Given the description of an element on the screen output the (x, y) to click on. 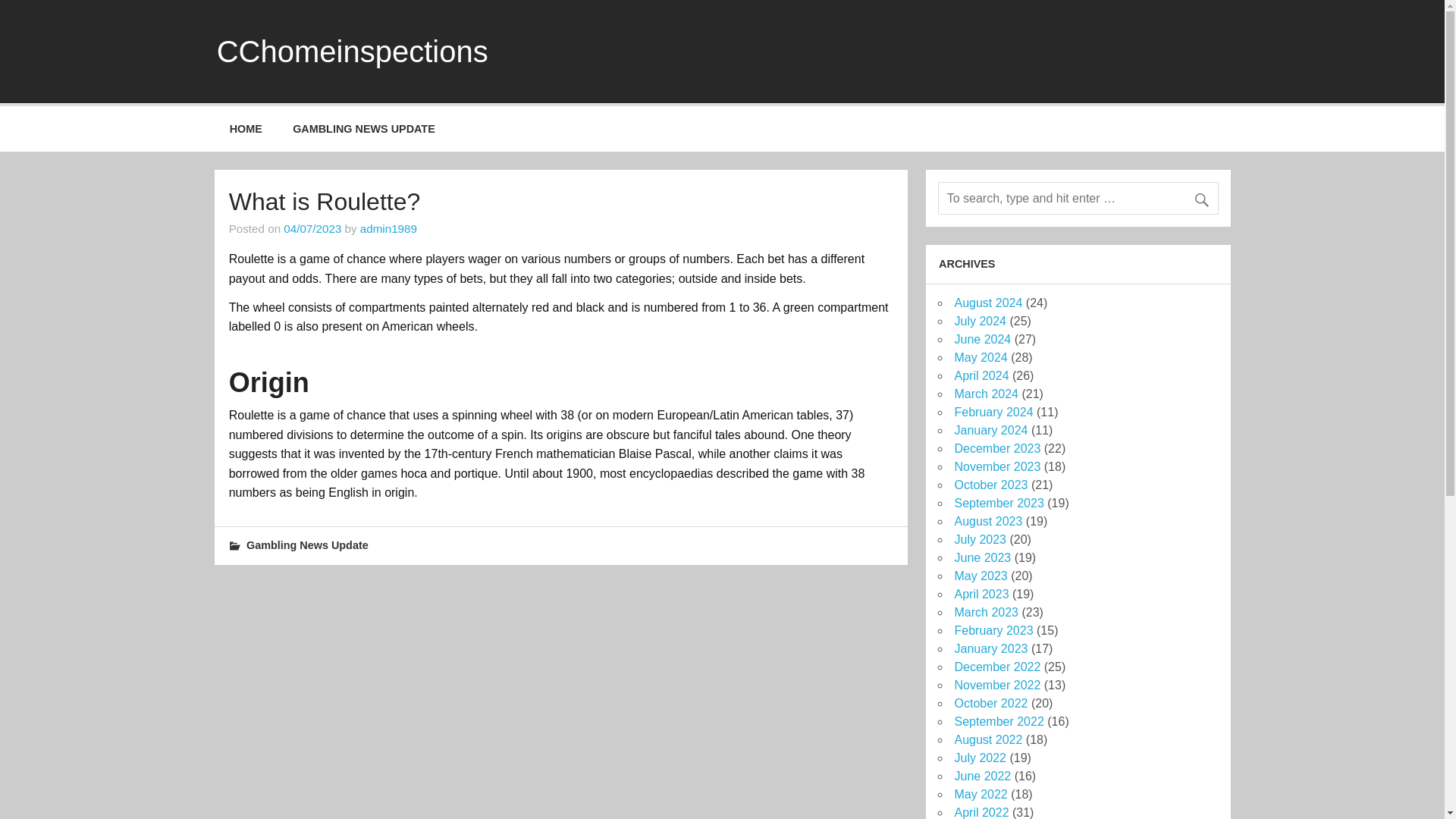
November 2023 (997, 466)
April 2023 (981, 594)
December 2022 (997, 666)
January 2024 (990, 430)
CChomeinspections (351, 51)
October 2023 (990, 484)
July 2023 (979, 539)
March 2024 (985, 393)
September 2023 (998, 502)
August 2024 (987, 302)
